Given the description of an element on the screen output the (x, y) to click on. 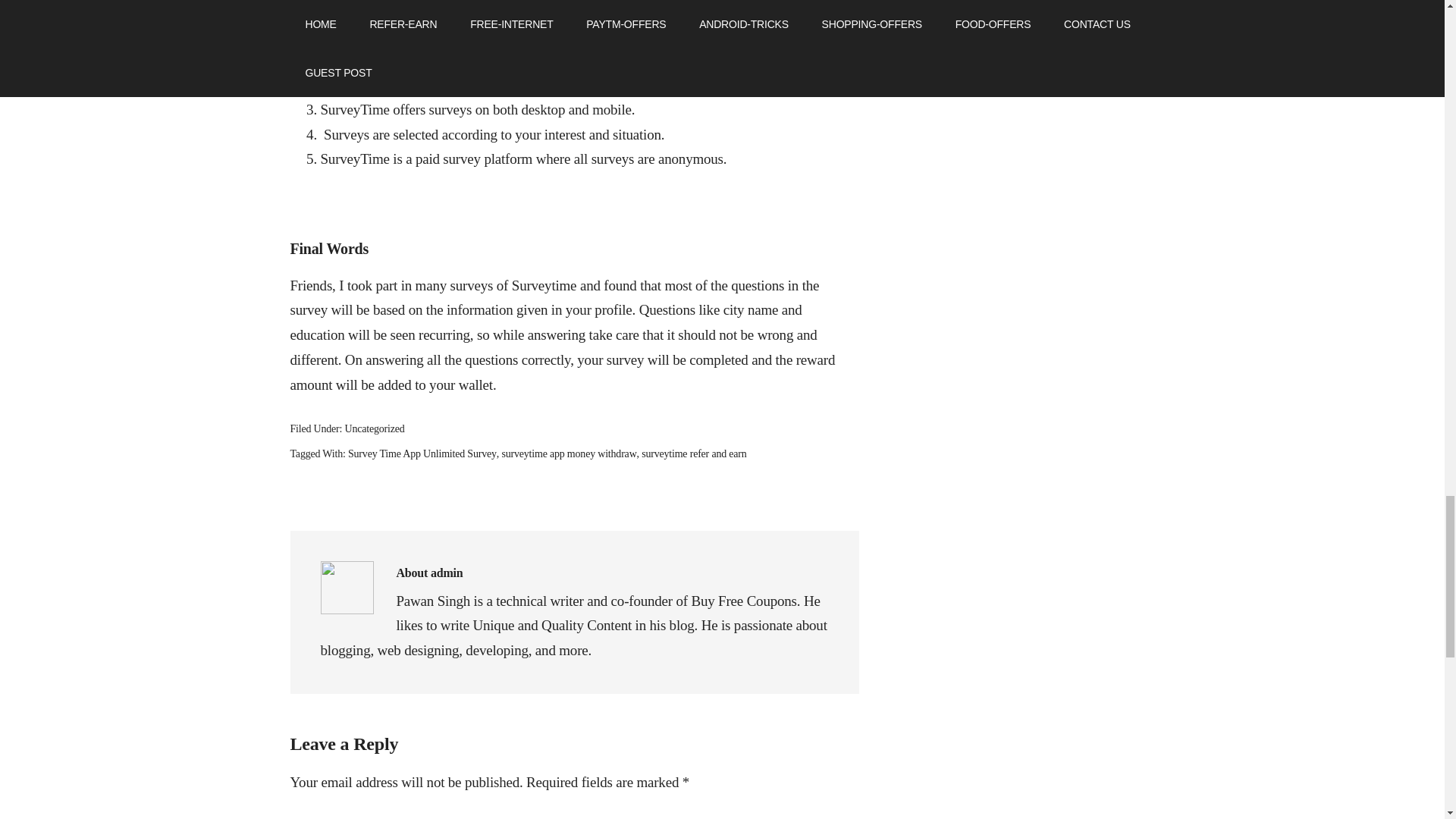
Survey Time App Unlimited Survey (421, 453)
surveytime refer and earn (693, 453)
Uncategorized (374, 428)
surveytime app money withdraw (568, 453)
